Given the description of an element on the screen output the (x, y) to click on. 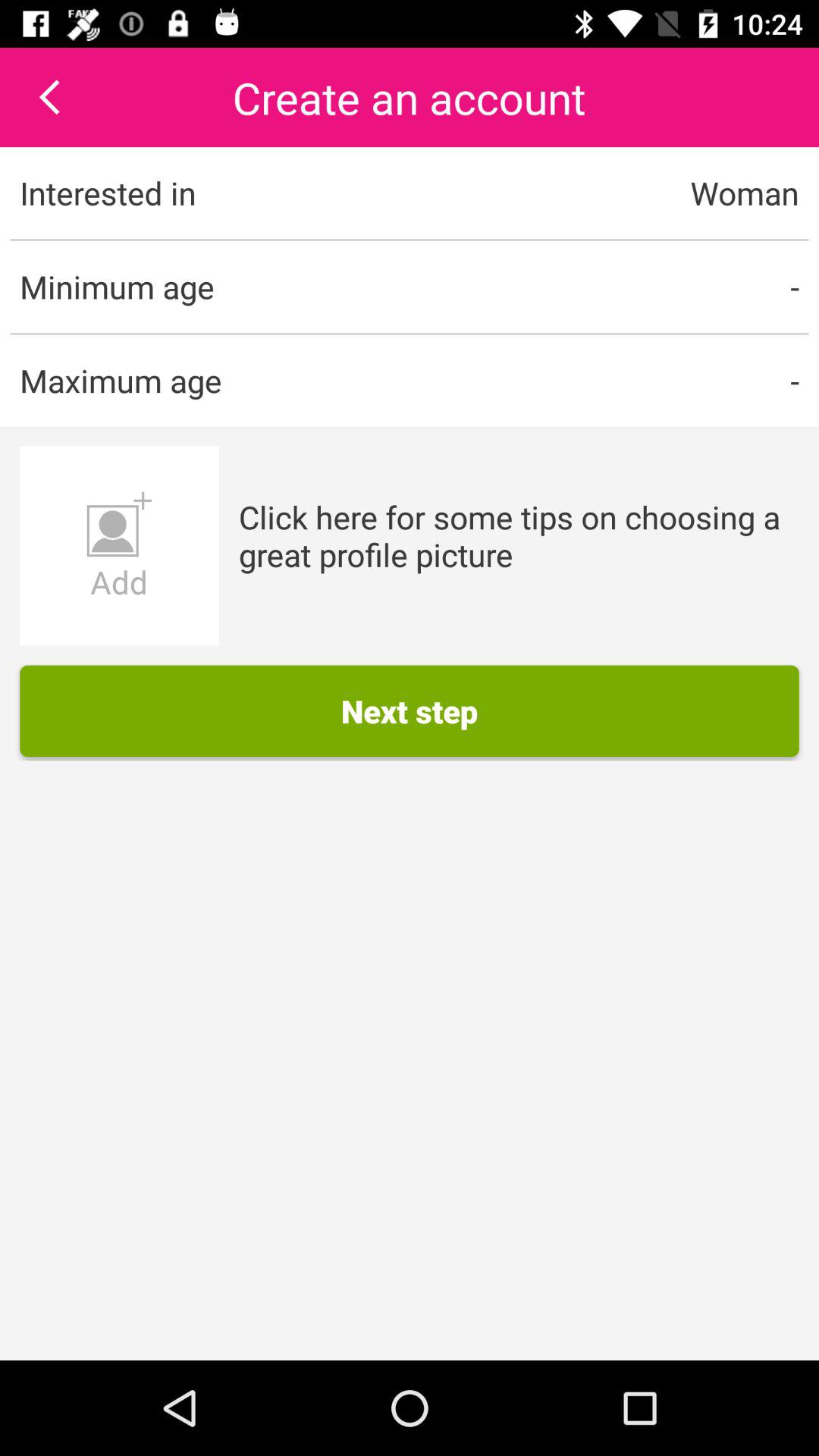
turn off the item below maximum age item (118, 545)
